Given the description of an element on the screen output the (x, y) to click on. 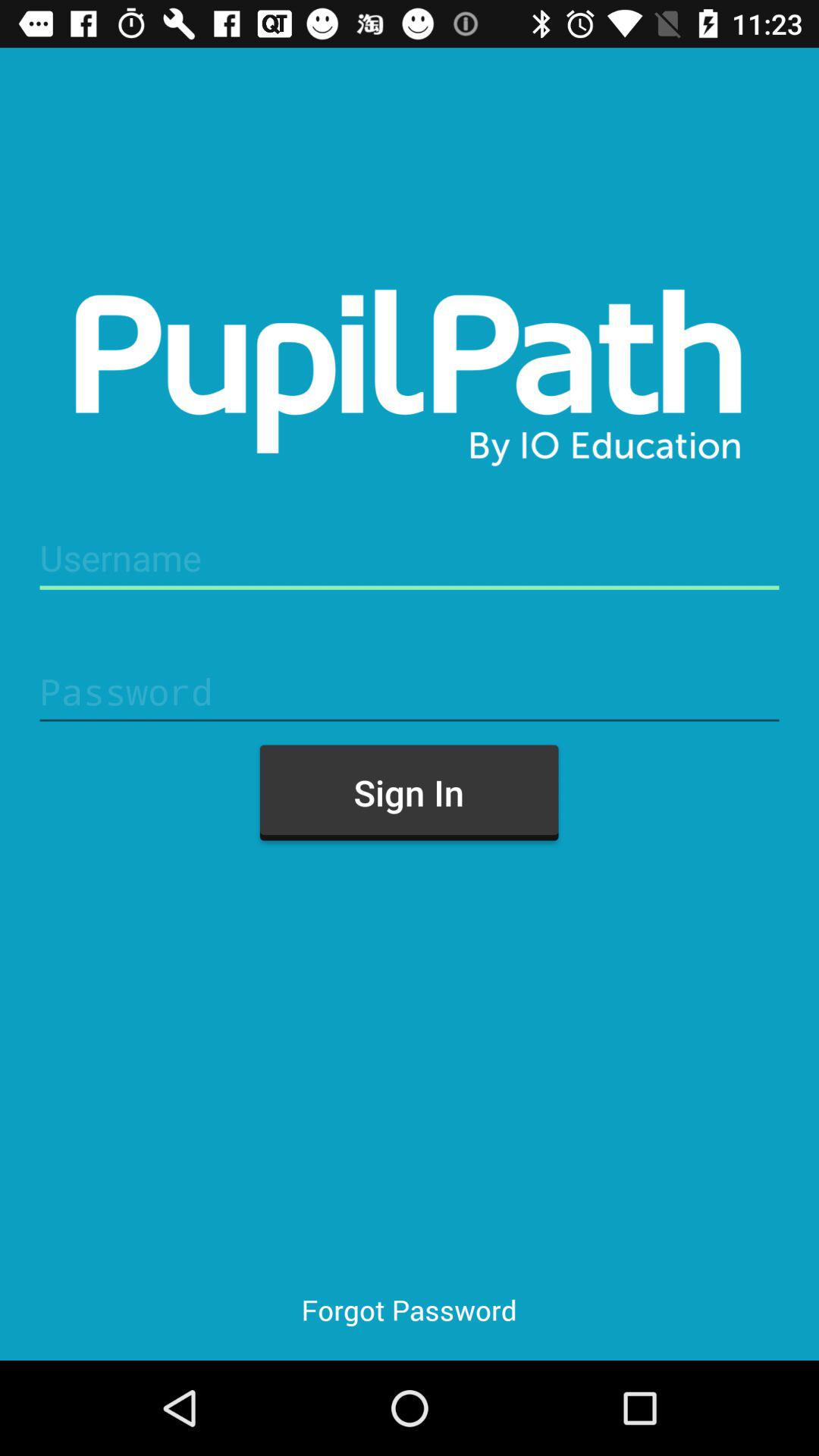
open forgot password item (408, 1309)
